Given the description of an element on the screen output the (x, y) to click on. 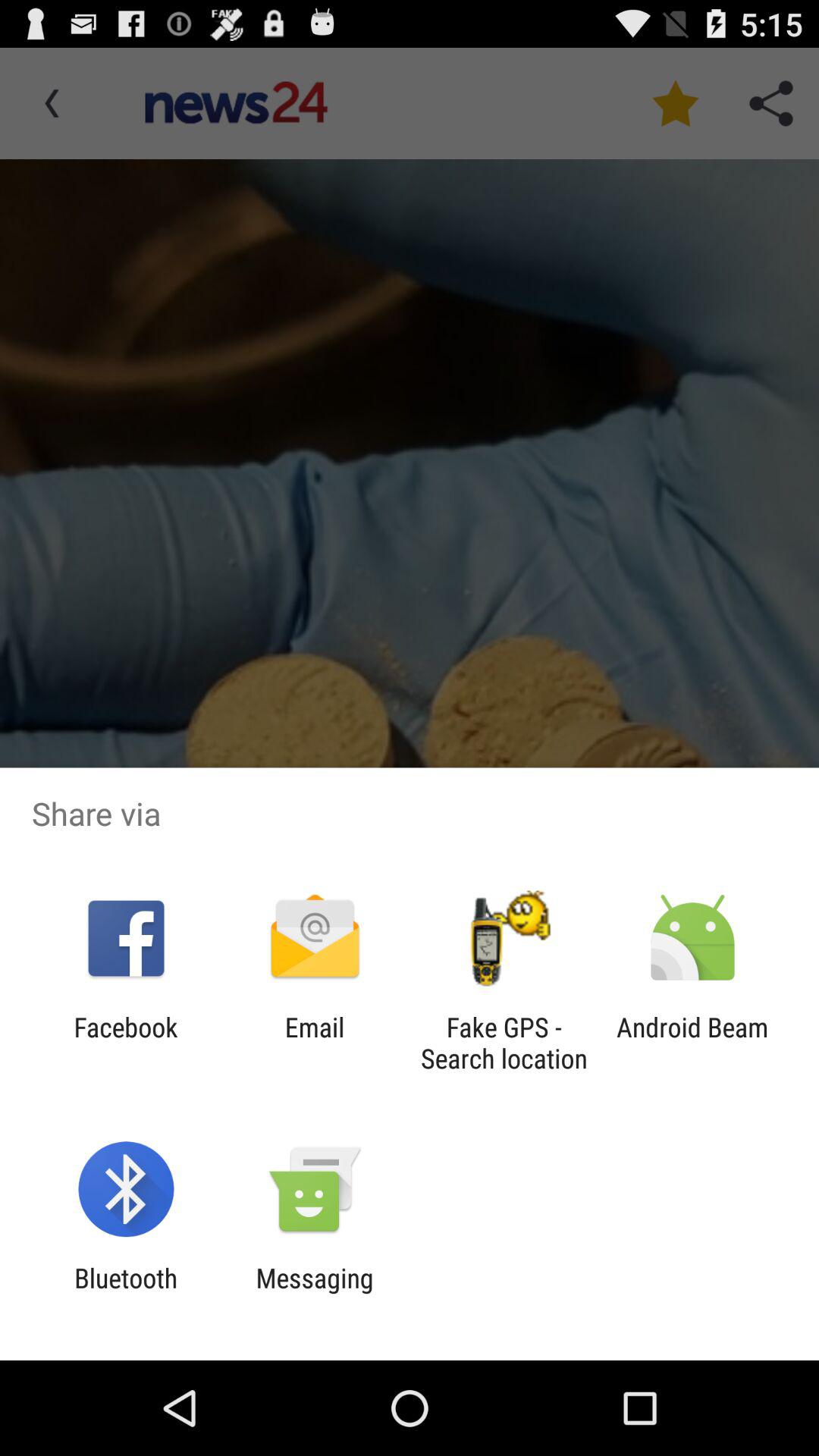
scroll to the android beam icon (692, 1042)
